Given the description of an element on the screen output the (x, y) to click on. 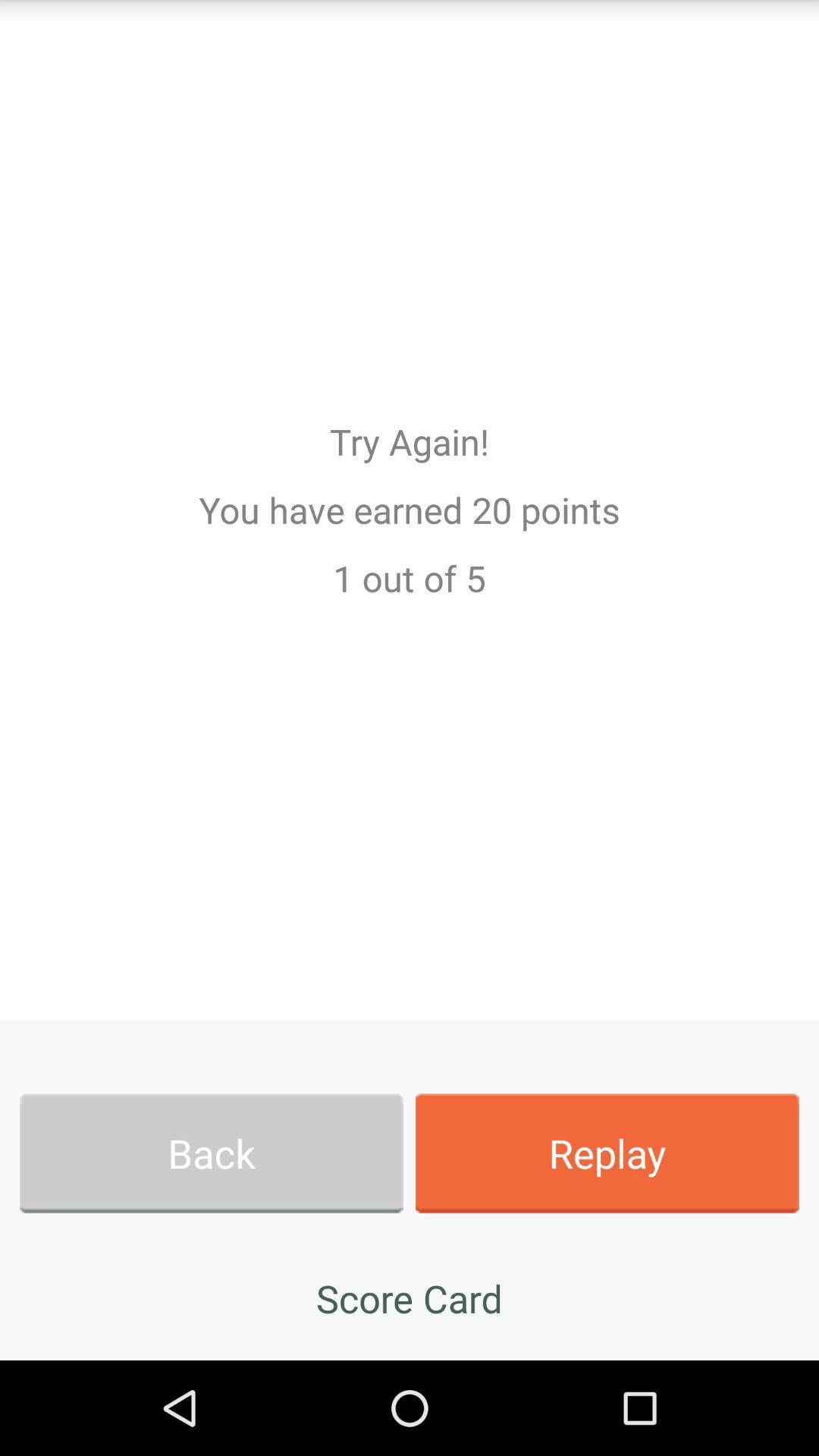
tap the item to the left of replay app (211, 1153)
